Given the description of an element on the screen output the (x, y) to click on. 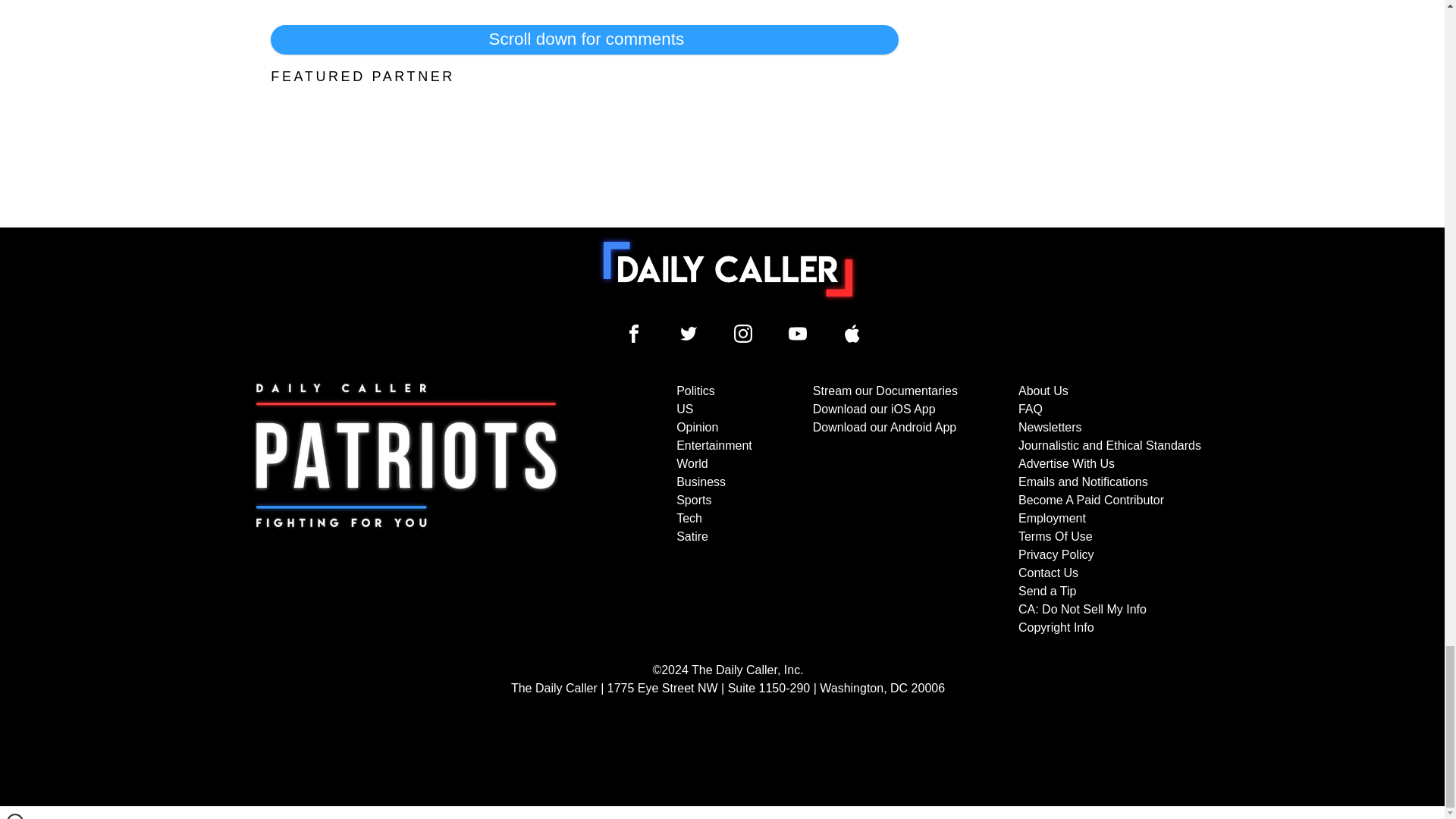
Subscribe to The Daily Caller (405, 509)
Daily Caller Instagram (742, 333)
To home page (727, 268)
Daily Caller YouTube (797, 333)
Daily Caller YouTube (852, 333)
Daily Caller Facebook (633, 333)
Scroll down for comments (584, 39)
Daily Caller Twitter (688, 333)
